Given the description of an element on the screen output the (x, y) to click on. 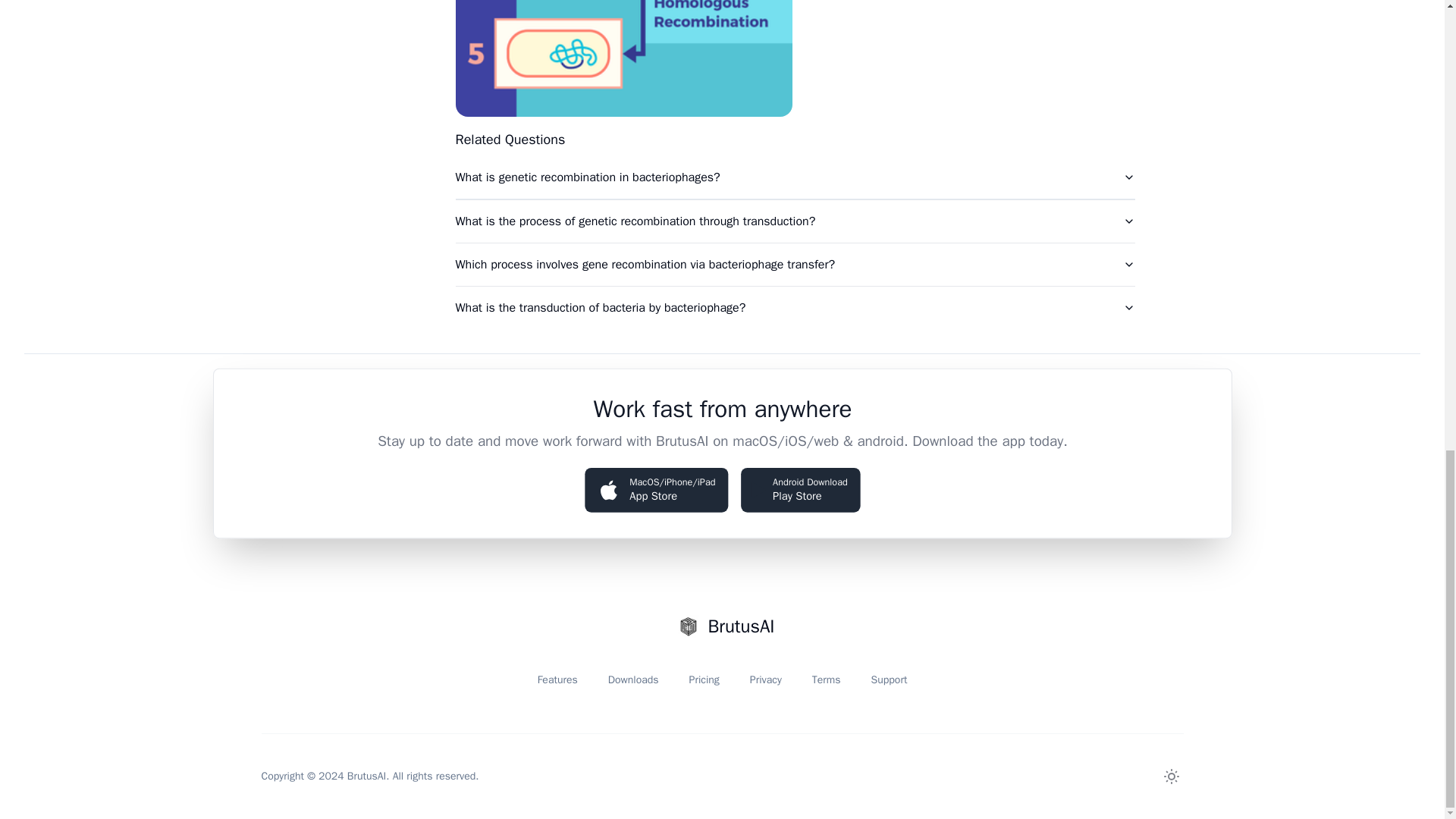
What is genetic recombination in bacteriophages? (794, 177)
What is the transduction of bacteria by bacteriophage? (794, 307)
Features (557, 679)
Privacy (765, 679)
Pricing (703, 679)
Terms (797, 488)
Downloads (826, 679)
Support (633, 679)
